Given the description of an element on the screen output the (x, y) to click on. 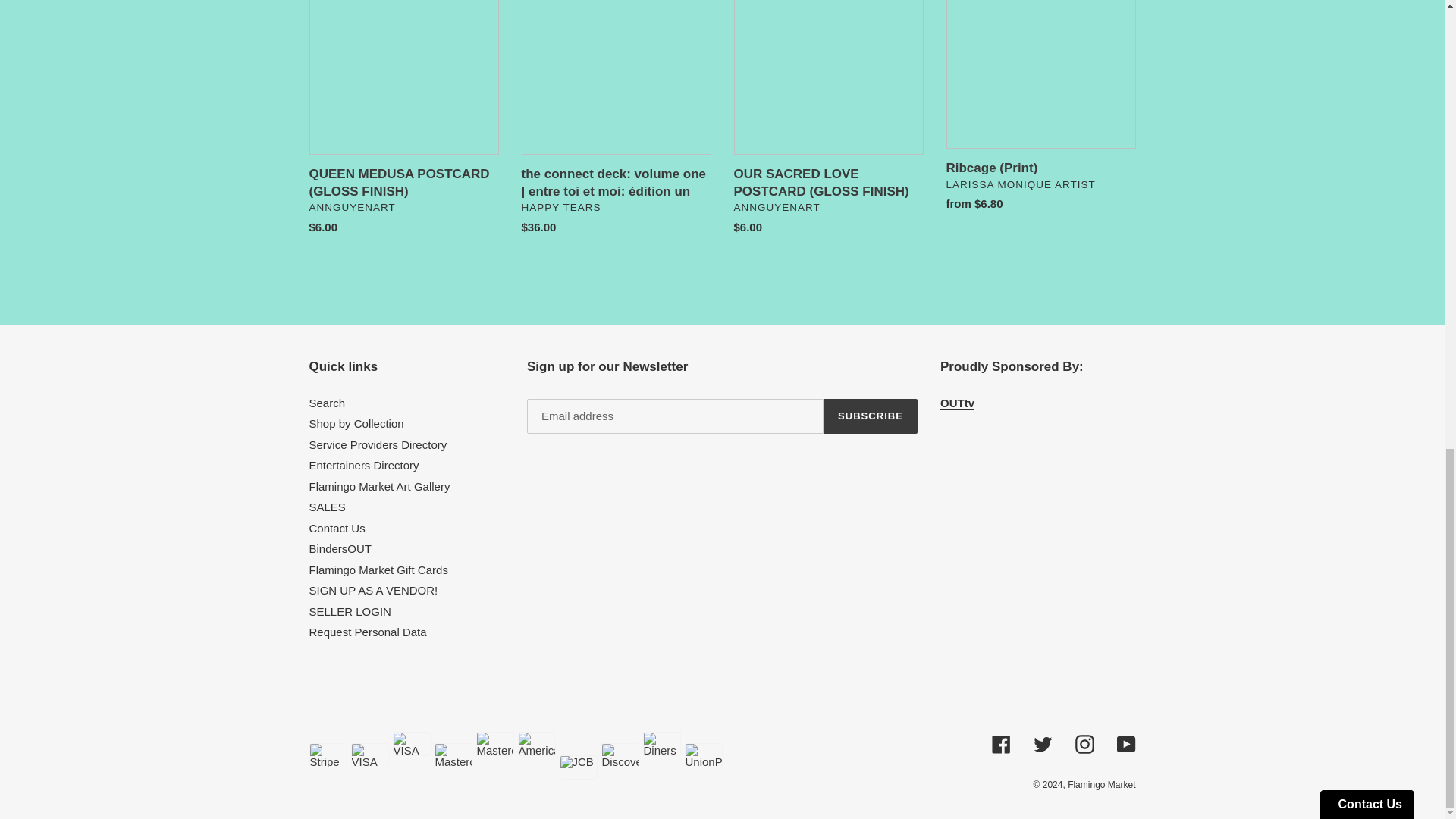
Discover (619, 754)
JCB (577, 767)
Mastercard (452, 754)
VISA Debit (411, 743)
Mastercard Debit (494, 743)
Diners Club (662, 743)
Stripe (327, 754)
VISA (369, 754)
American Express (535, 743)
